Given the description of an element on the screen output the (x, y) to click on. 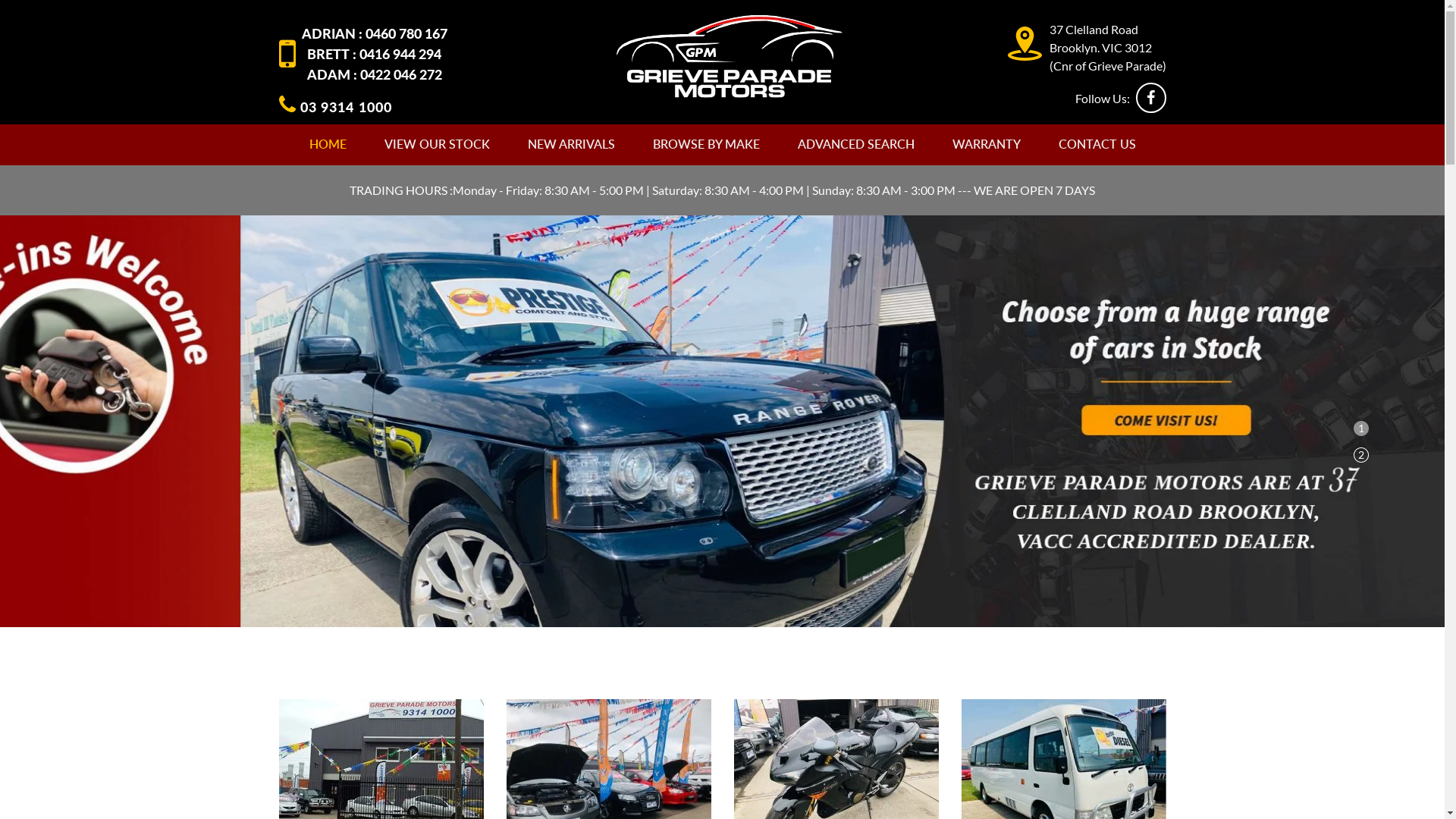
CONTACT US Element type: text (1096, 144)
NEW ARRIVALS Element type: text (570, 144)
: 0422 046 272 Element type: text (397, 75)
: 0460 780 167 Element type: text (401, 34)
03 9314 1000 Element type: text (335, 108)
VIEW OUR STOCK Element type: text (436, 144)
Address Element type: hover (1024, 43)
BROWSE BY MAKE Element type: text (706, 144)
Motorbikes For Sale Element type: hover (836, 773)
New Arrivals Element type: hover (608, 773)
Second Hand Cars for Sale Element type: hover (728, 54)
: 0416 944 294 Element type: text (396, 55)
facebook Element type: hover (1150, 97)
ADVANCED SEARCH Element type: text (855, 144)
Caravan Motorhome Element type: hover (1063, 773)
Second Hand Cars for Sale Element type: hover (728, 56)
Second Hand Cars in Melbourne - Banner home page Element type: hover (722, 420)
View All Stock Element type: hover (381, 773)
WARRANTY Element type: text (985, 144)
HOME Element type: text (326, 144)
